Given the description of an element on the screen output the (x, y) to click on. 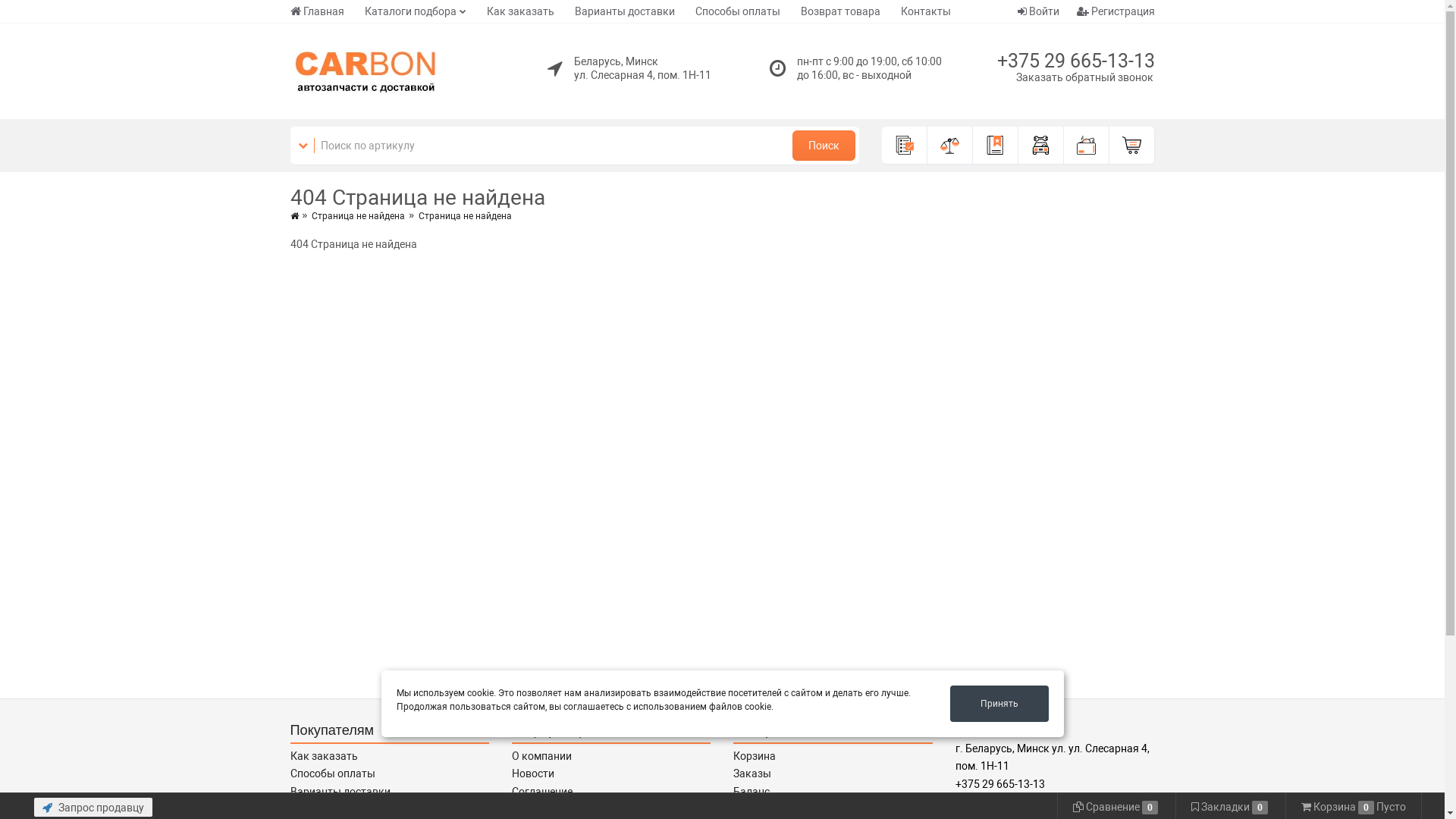
+375 29 665-13-13 Element type: text (1075, 61)
